Given the description of an element on the screen output the (x, y) to click on. 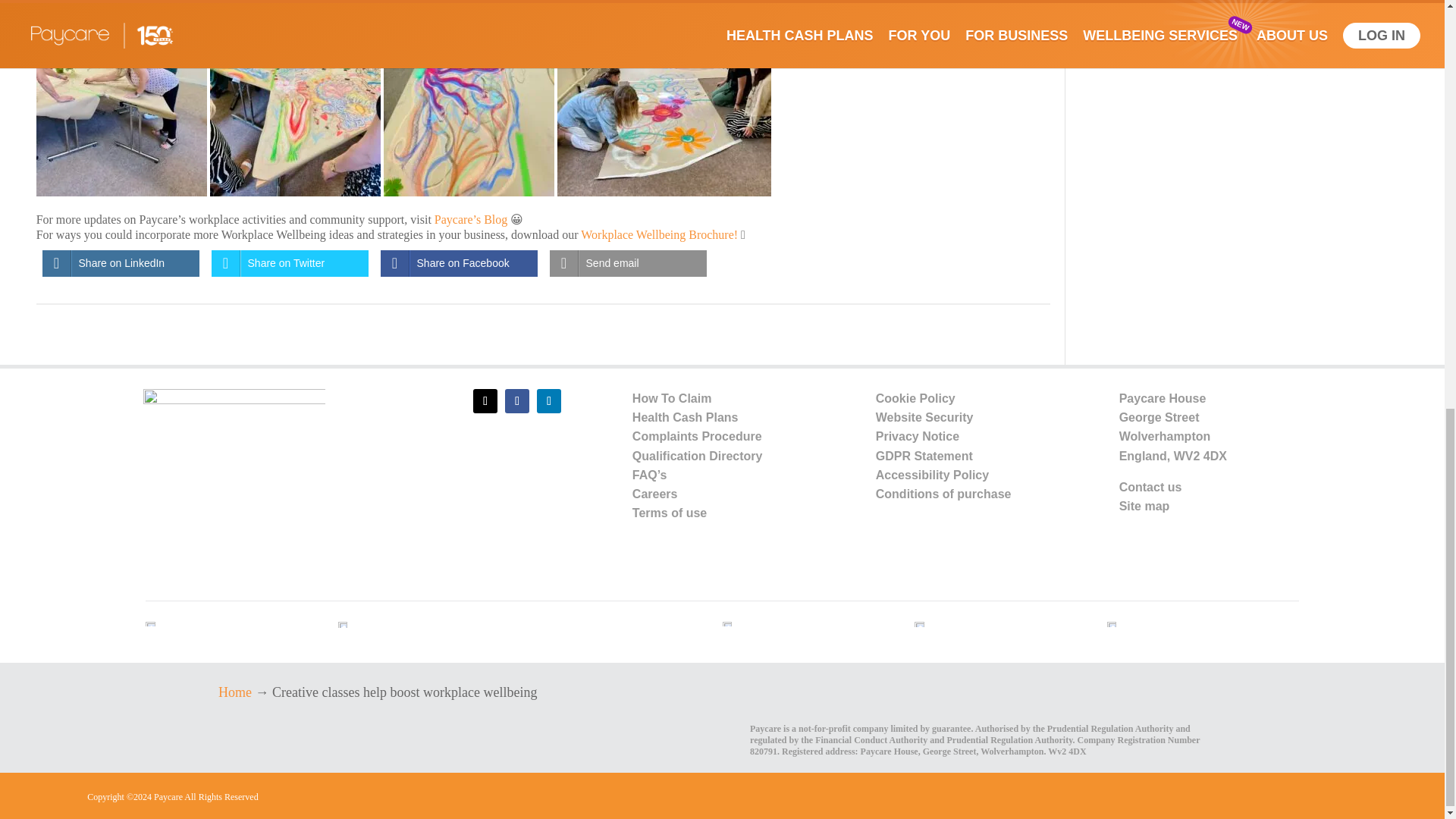
Share on Twitter (289, 263)
Follow on Facebook (517, 401)
Share on Facebook (458, 263)
Follow on LinkedIn (548, 401)
Follow on Twitter (485, 401)
IFIG The Forum for Fraud Investigators (727, 623)
Share it on Email (628, 263)
Paycare-150 (233, 461)
Share on LinkedIn (120, 263)
